Given the description of an element on the screen output the (x, y) to click on. 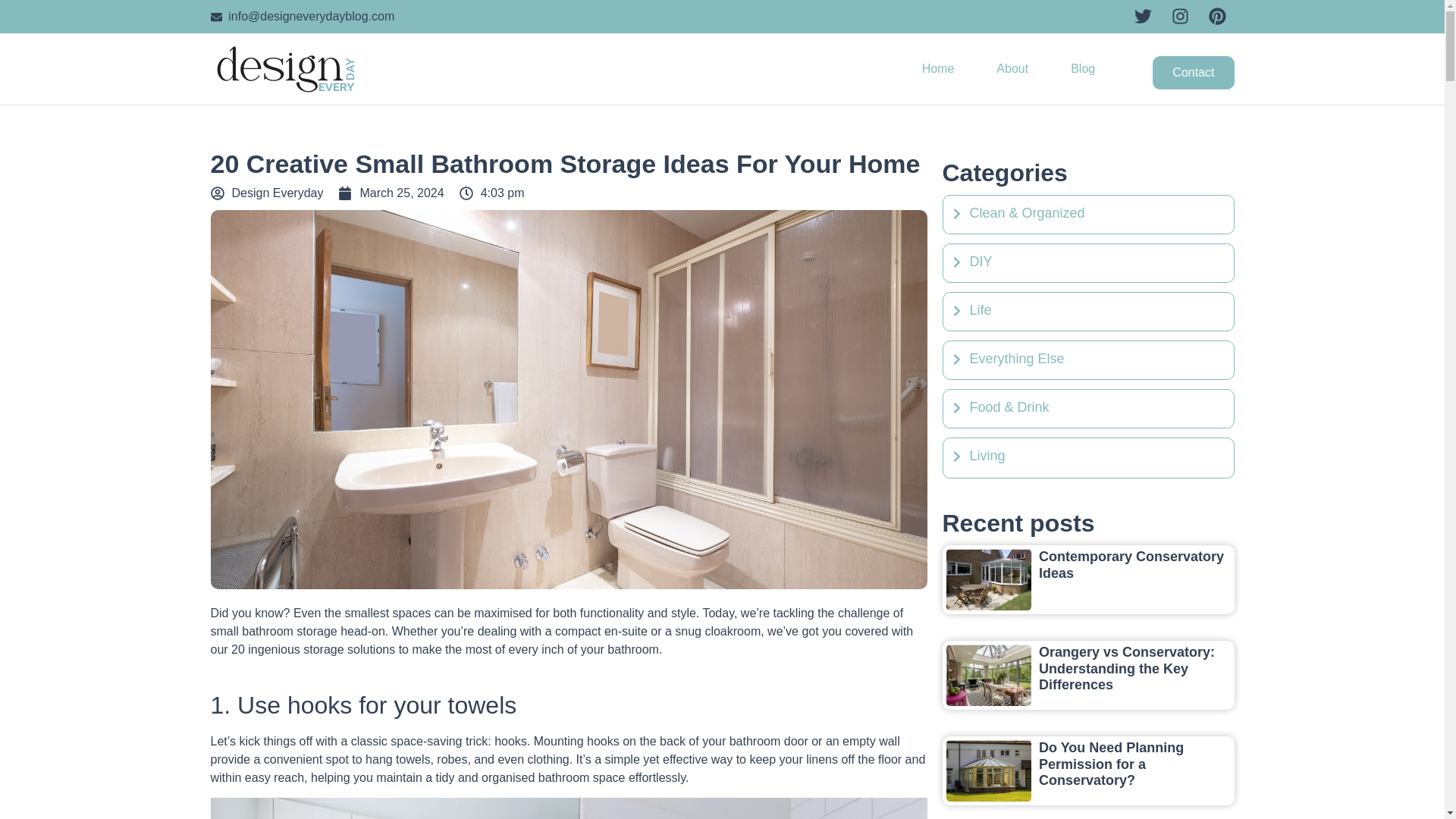
About (1012, 68)
March 25, 2024 (390, 193)
Living (1087, 455)
Home (938, 68)
Contemporary Conservatory Ideas (1131, 564)
DIY (1087, 261)
Life (1087, 310)
Blog (1082, 68)
Do You Need Planning Permission for a Conservatory? (1111, 763)
Orangery vs Conservatory: Understanding the Key Differences (1126, 668)
